Given the description of an element on the screen output the (x, y) to click on. 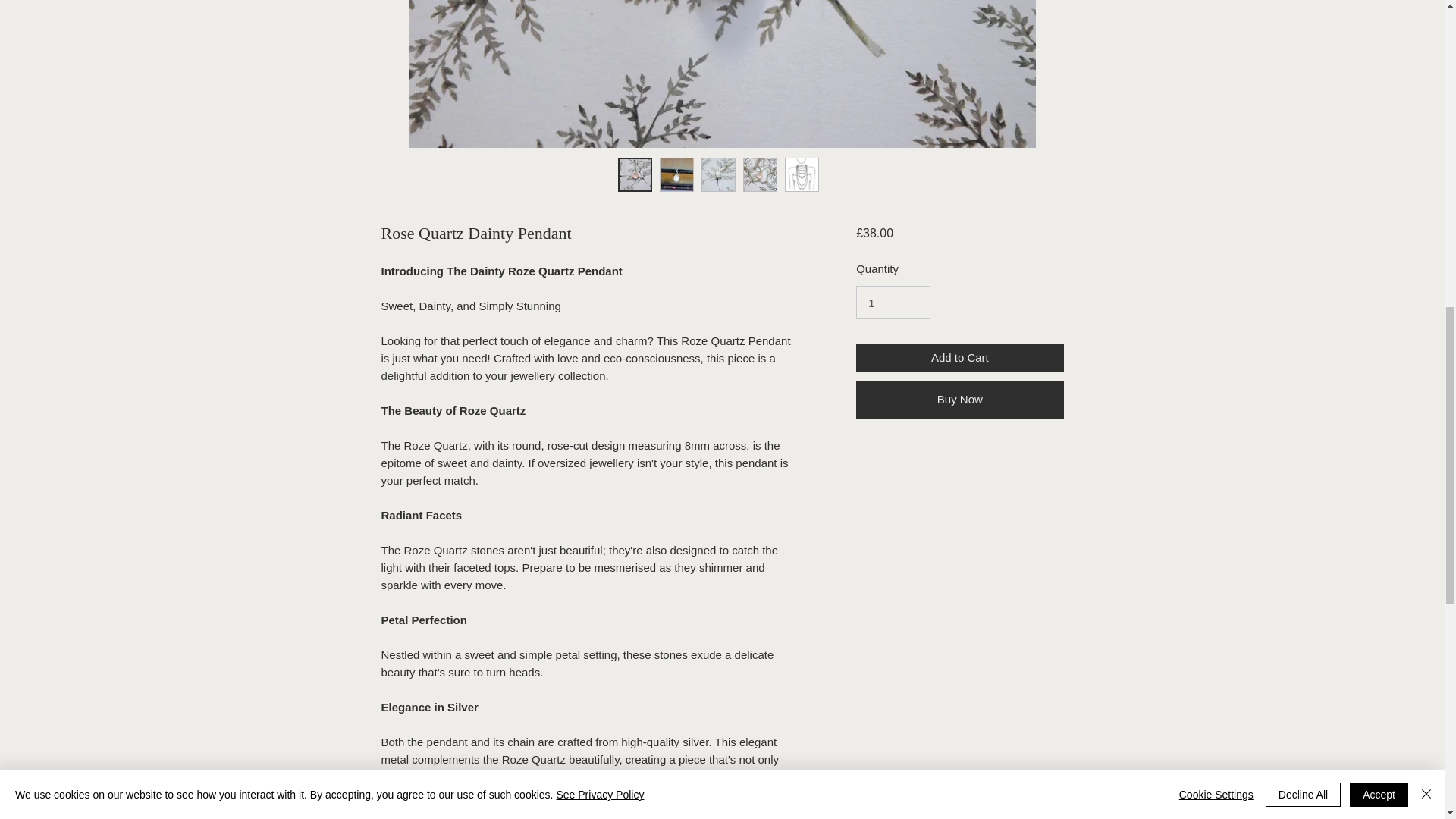
1 (893, 302)
Buy Now (959, 399)
Add to Cart (959, 358)
